Given the description of an element on the screen output the (x, y) to click on. 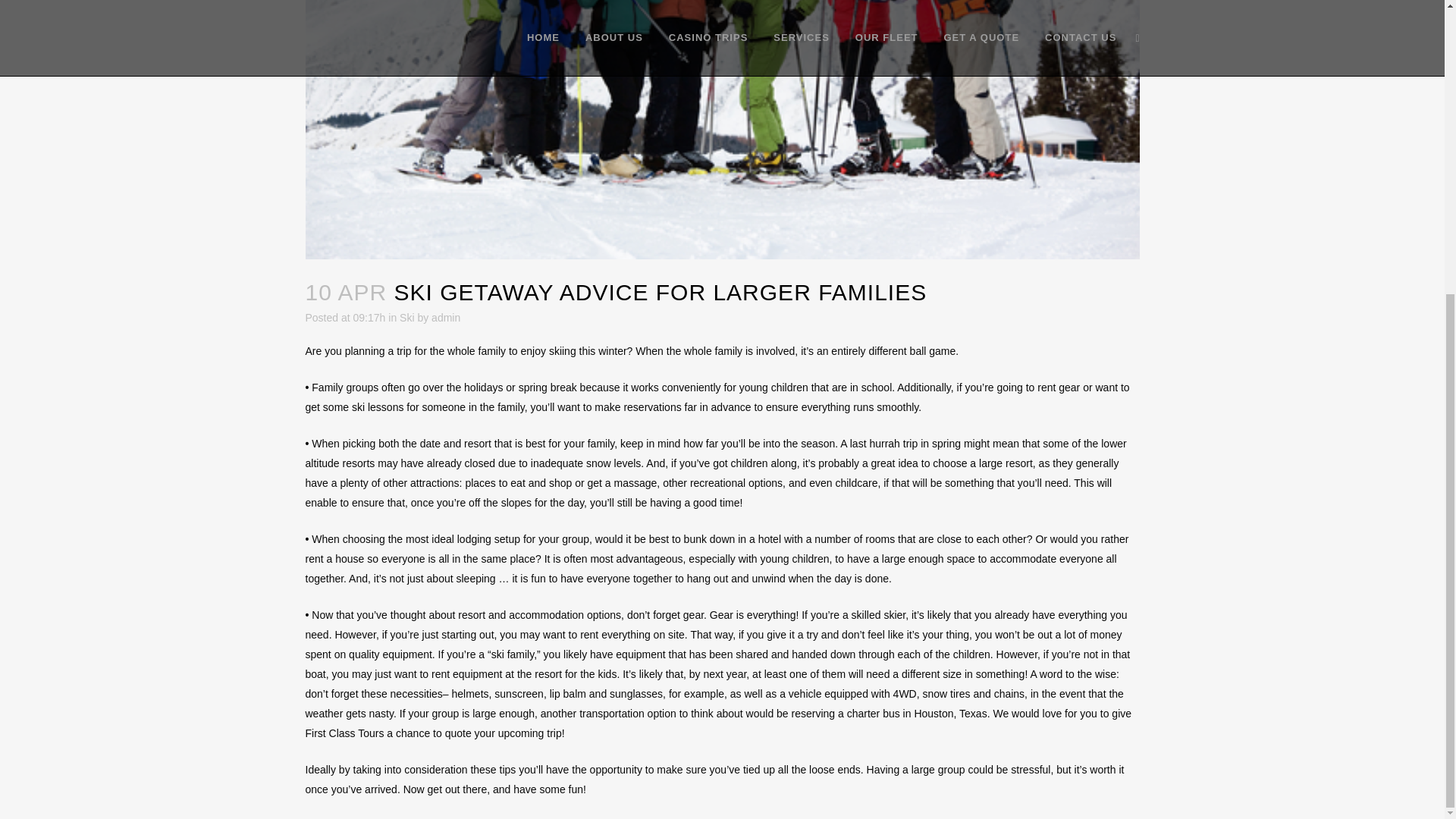
Ski (405, 317)
